Given the description of an element on the screen output the (x, y) to click on. 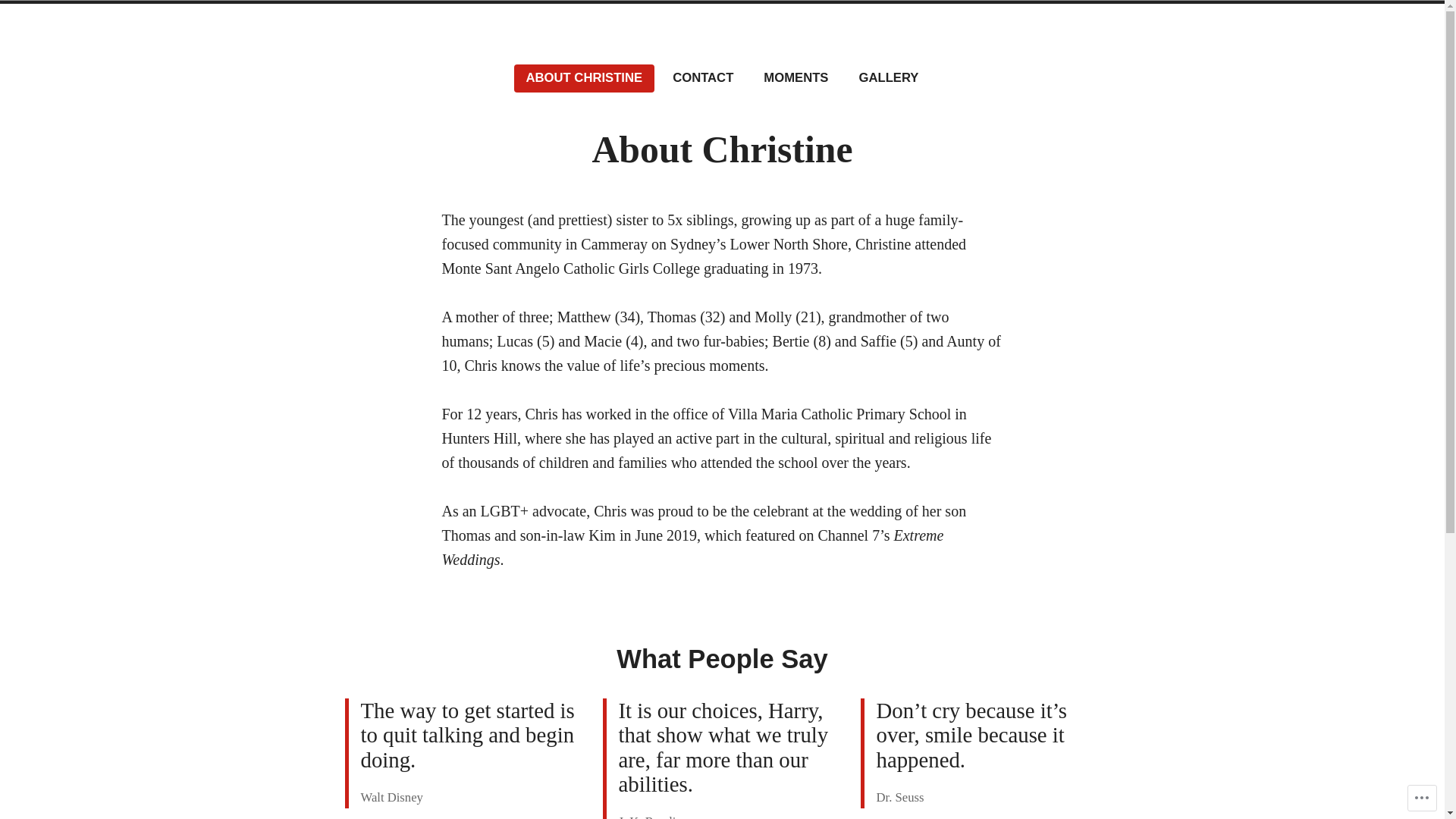
CONTACT Element type: text (702, 78)
GALLERY Element type: text (888, 78)
MOMENTS Element type: text (795, 78)
Magnolia Moments Element type: text (240, 62)
ABOUT CHRISTINE Element type: text (584, 78)
